Given the description of an element on the screen output the (x, y) to click on. 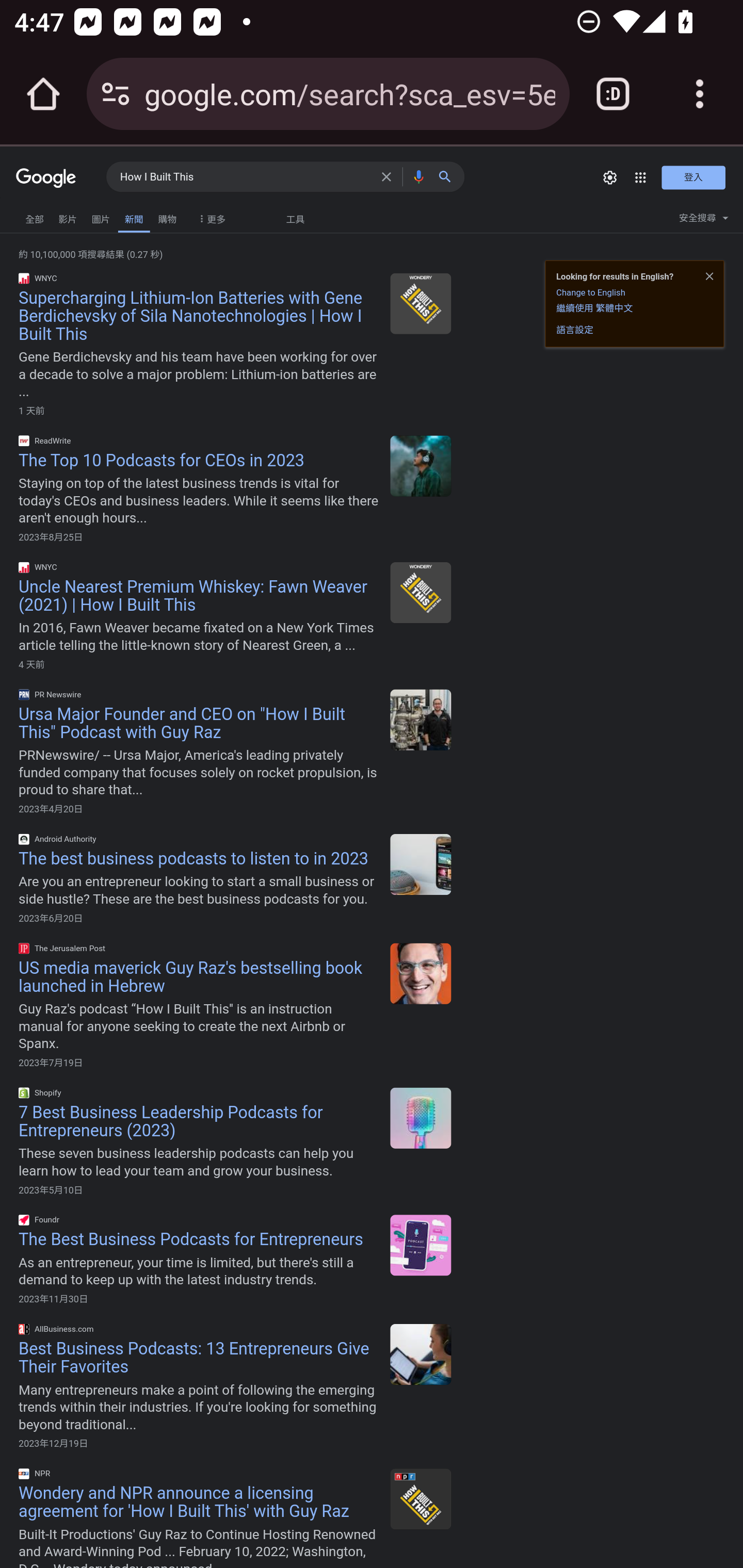
Open the home page (43, 93)
Connection is secure (115, 93)
Switch or close tabs (612, 93)
Customize and control Google Chrome (699, 93)
 清除 (389, 176)
語音搜尋 (418, 176)
Google 搜尋 (448, 176)
設定 (609, 177)
Google 應用程式 (640, 177)
登入 (693, 177)
Google (46, 179)
How I Built This (245, 177)
全部 (34, 217)
影片 (67, 217)
圖片 (100, 217)
新聞 (133, 217)
購物 (166, 217)
More Filters (209, 213)
安全搜尋 (703, 219)
工具 (295, 218)
Change to English (590, 291)
繼續使用 繁體中文 繼續使用  繁體中文 (594, 307)
語言設定 (574, 329)
